Given the description of an element on the screen output the (x, y) to click on. 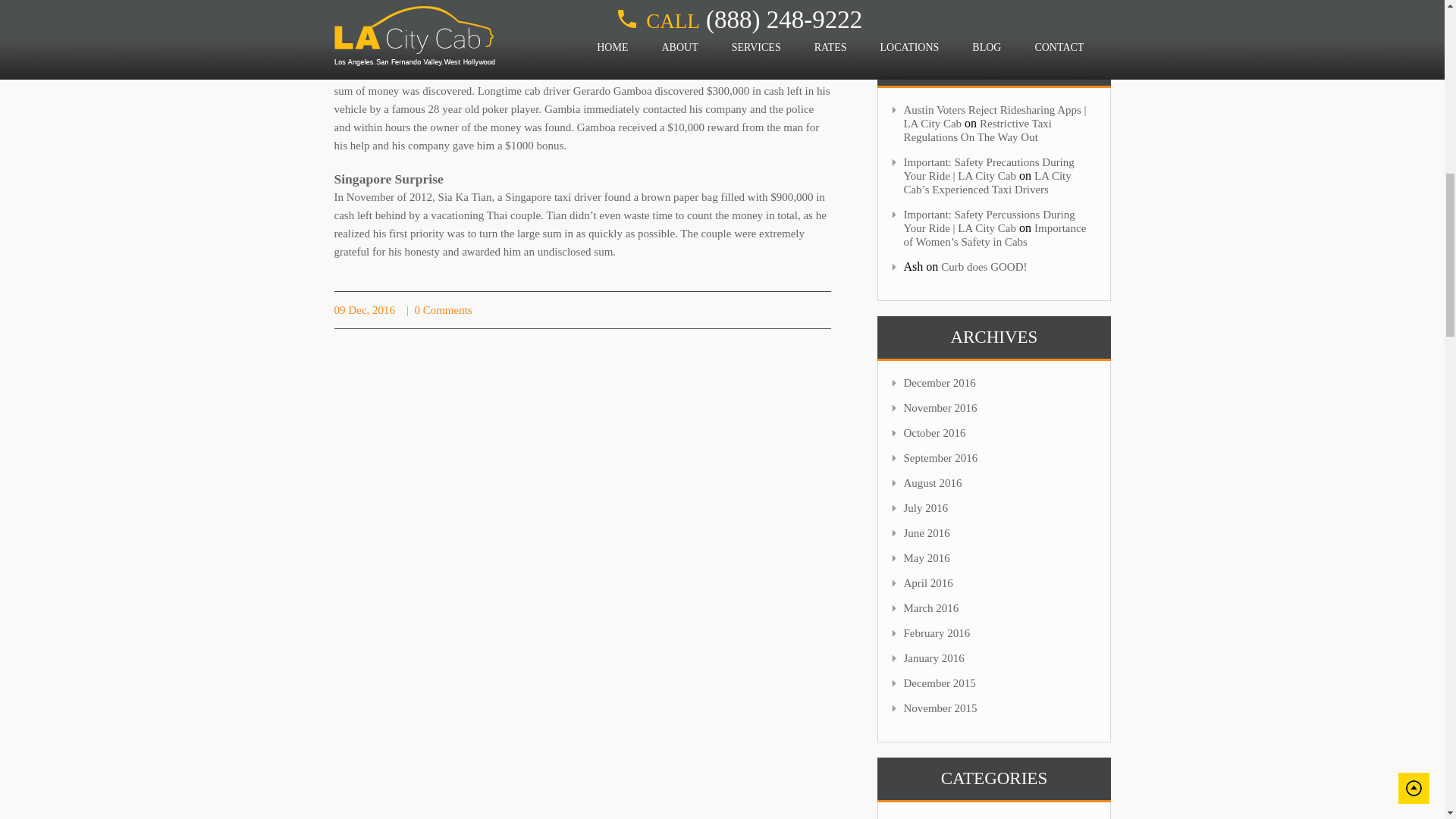
September 2016 (939, 458)
October 2016 (933, 432)
June 2016 (925, 532)
July 2016 (924, 508)
Curb does GOOD! (983, 266)
April 2016 (927, 582)
August 2016 (931, 482)
December 2016 (938, 382)
March 2016 (930, 607)
May 2016 (925, 558)
November 2016 (939, 408)
Restrictive Taxi Regulations On The Way Out (976, 130)
